Given the description of an element on the screen output the (x, y) to click on. 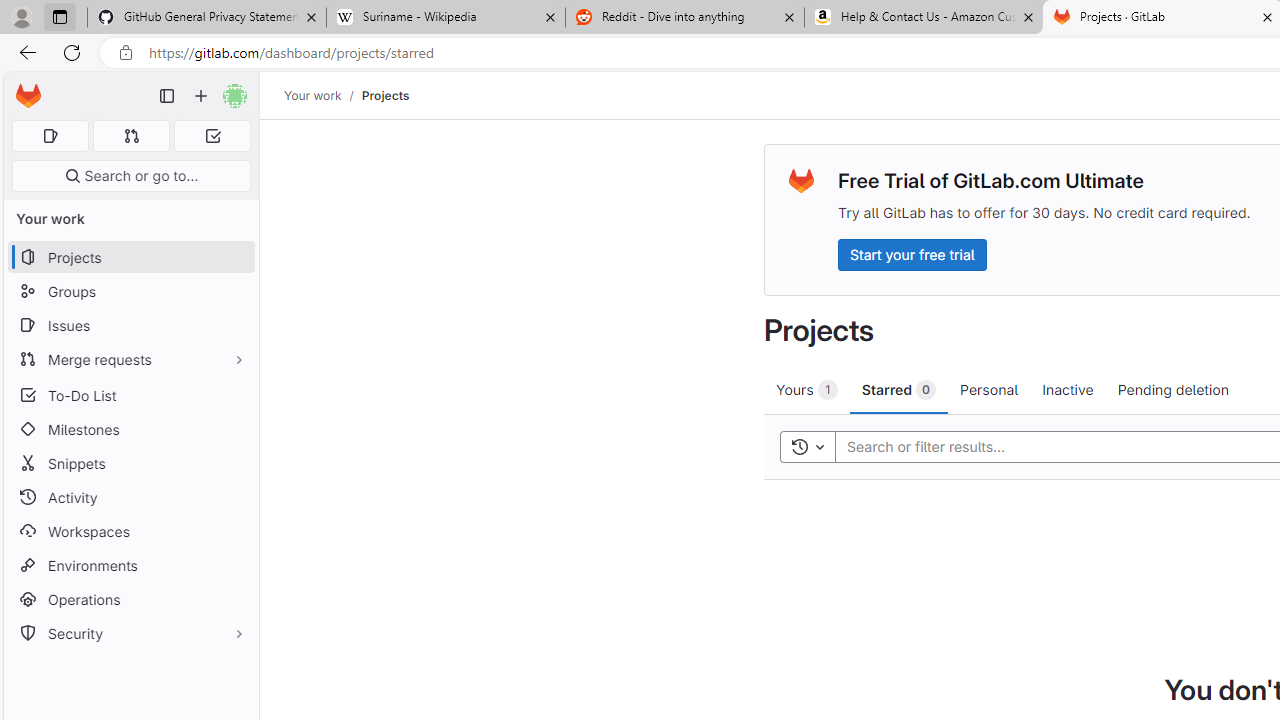
Pending deletion (1172, 389)
Projects (384, 95)
Security (130, 633)
Milestones (130, 429)
Your work/ (323, 95)
Create new... (201, 96)
Merge requests (130, 358)
Issues (130, 325)
Skip to main content (23, 87)
